Given the description of an element on the screen output the (x, y) to click on. 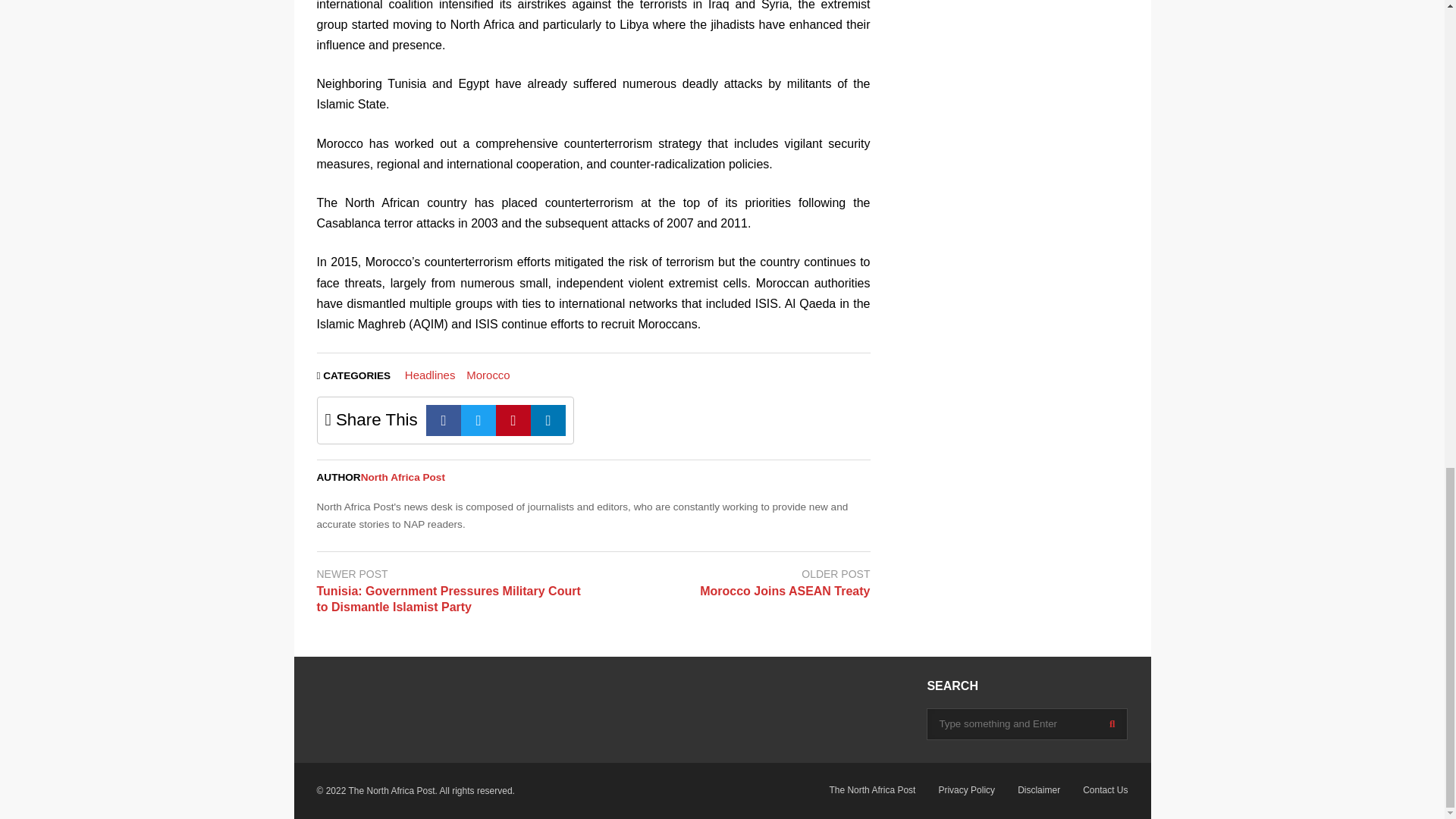
Linkedin (548, 419)
Facebook (443, 419)
Twitter (478, 419)
Pinterest (513, 419)
